Given the description of an element on the screen output the (x, y) to click on. 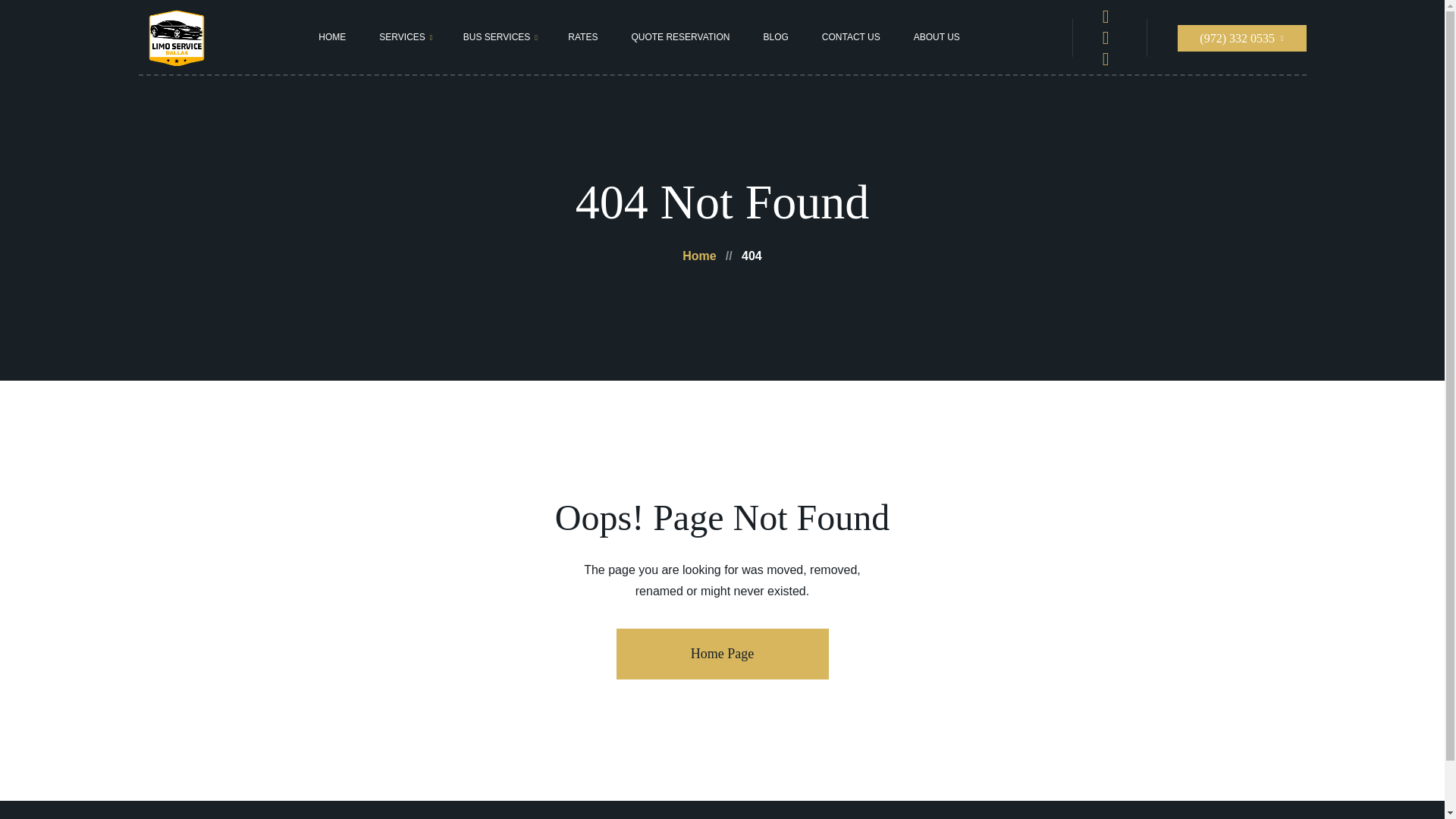
RATES (582, 37)
Home Page (721, 653)
QUOTE RESERVATION (679, 37)
BLOG (775, 37)
CONTACT US (850, 37)
SERVICES (401, 37)
ABOUT US (936, 37)
HOME (331, 37)
BUS SERVICES (496, 37)
Home (699, 255)
Go to Home. (699, 255)
